Given the description of an element on the screen output the (x, y) to click on. 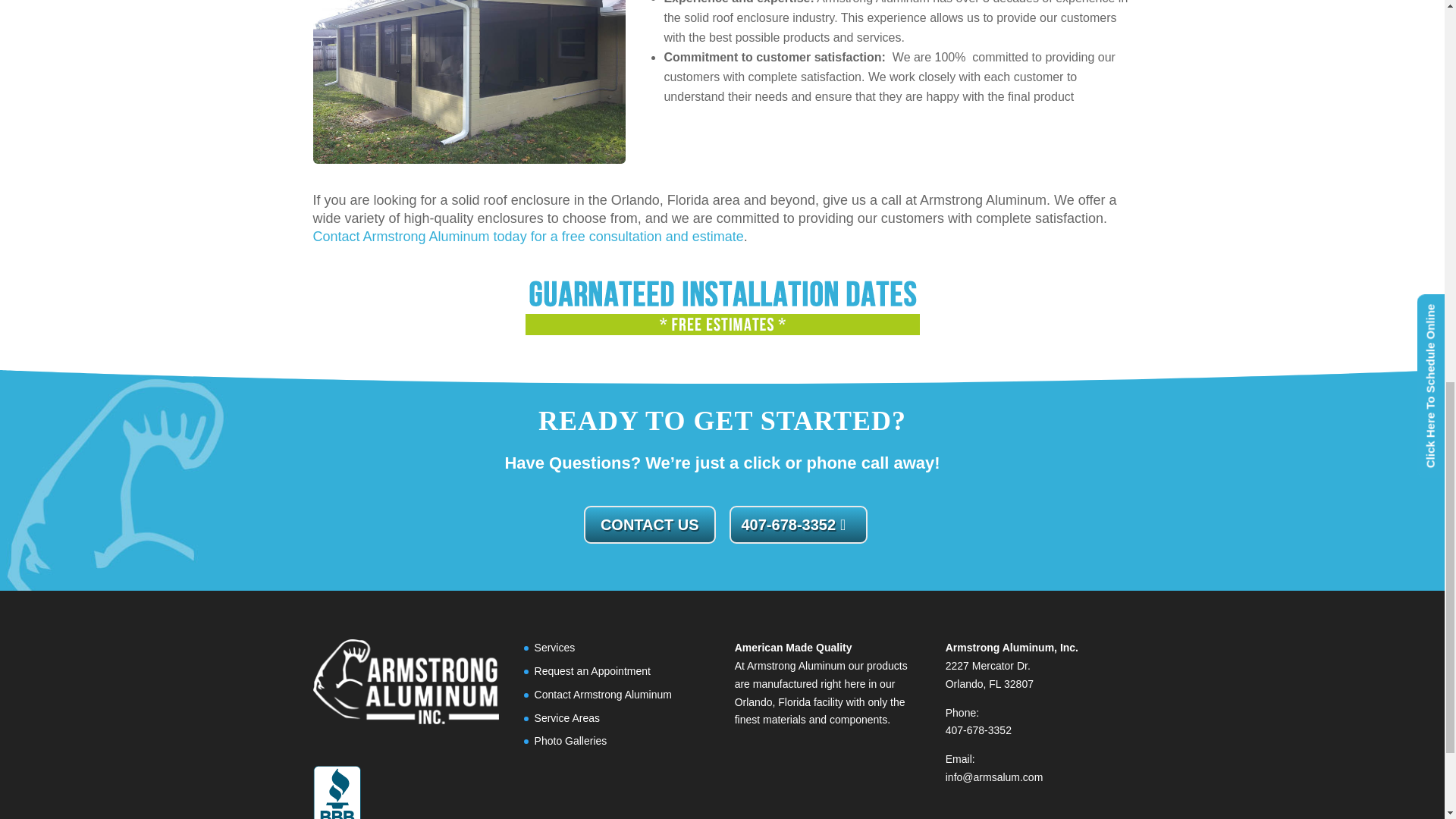
Services (554, 647)
GuaranteedDates-1 (721, 309)
SCREEN ON BLOCK WALL PRIME DOOR (469, 81)
CONTACT US (649, 523)
407-678-3352 (798, 523)
Request an Appointment (592, 671)
Service Areas (566, 717)
Contact Armstrong Aluminum (602, 694)
